Given the description of an element on the screen output the (x, y) to click on. 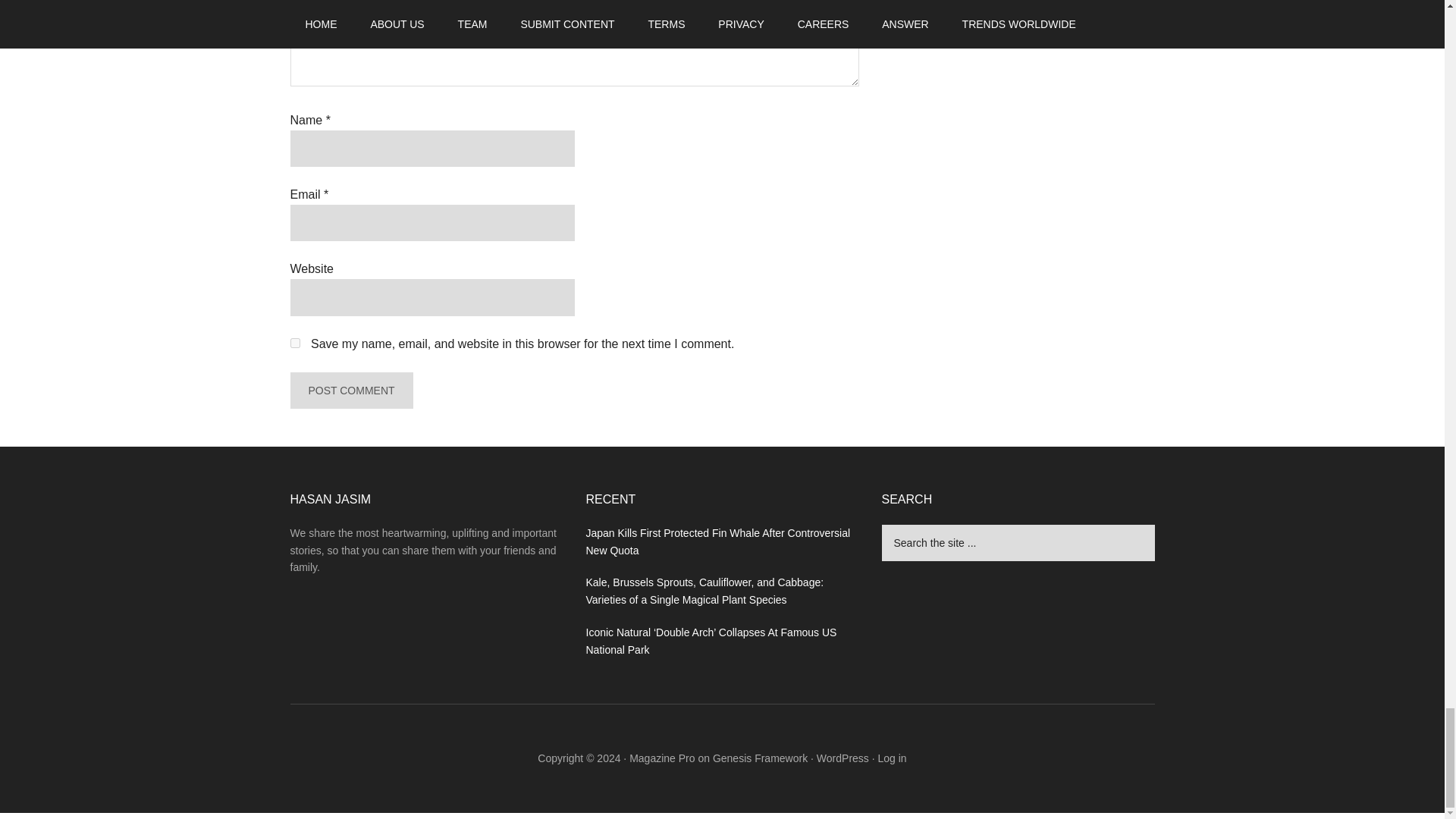
Post Comment (350, 390)
Post Comment (350, 390)
yes (294, 343)
